Given the description of an element on the screen output the (x, y) to click on. 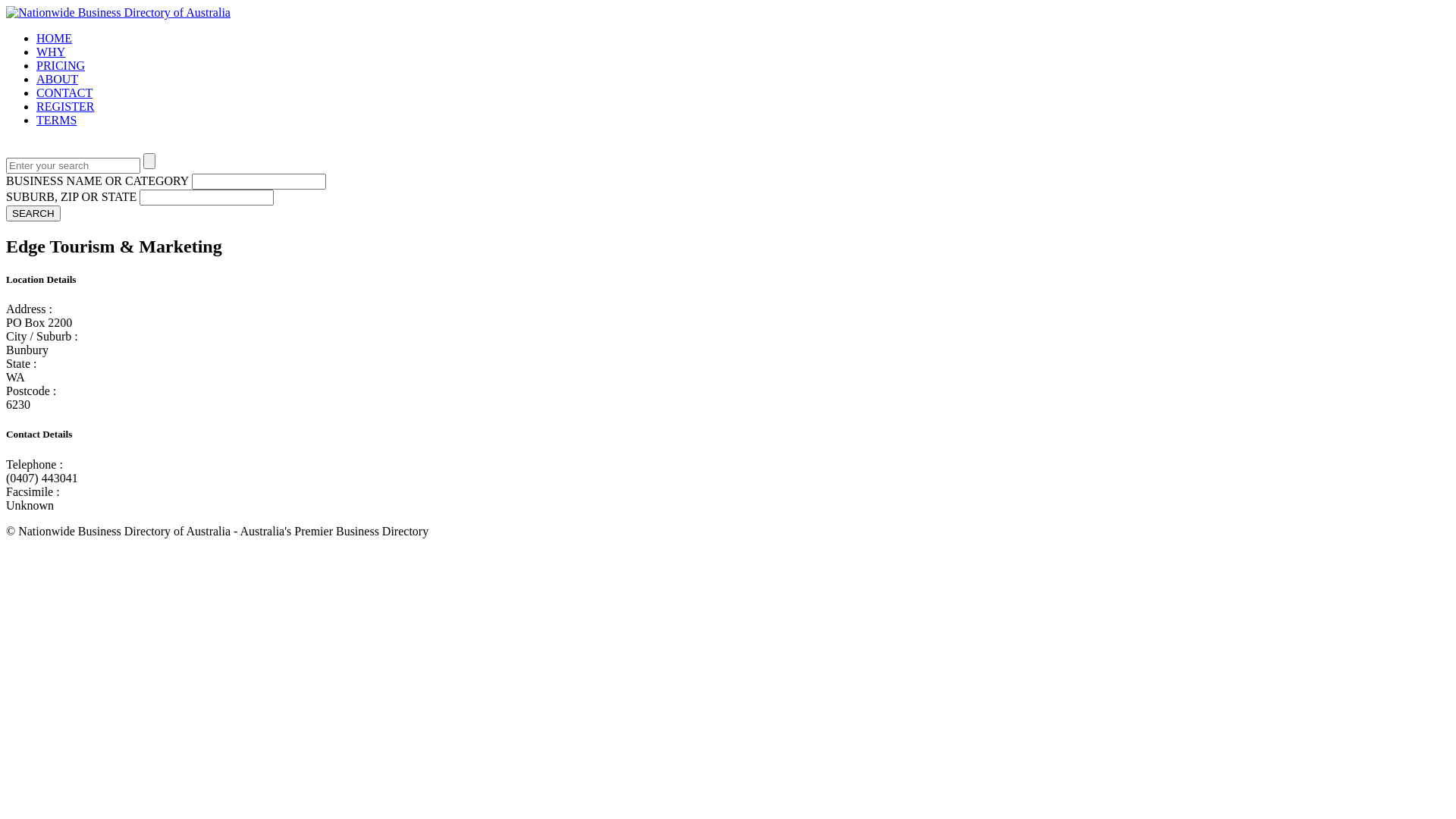
Nationwide Business Directory of Australia Element type: hover (118, 12)
WHY Element type: text (50, 51)
CONTACT Element type: text (64, 92)
REGISTER Element type: text (65, 106)
TERMS Element type: text (56, 119)
SEARCH Element type: text (33, 213)
HOME Element type: text (54, 37)
PRICING Element type: text (60, 65)
ABOUT Element type: text (57, 78)
